Given the description of an element on the screen output the (x, y) to click on. 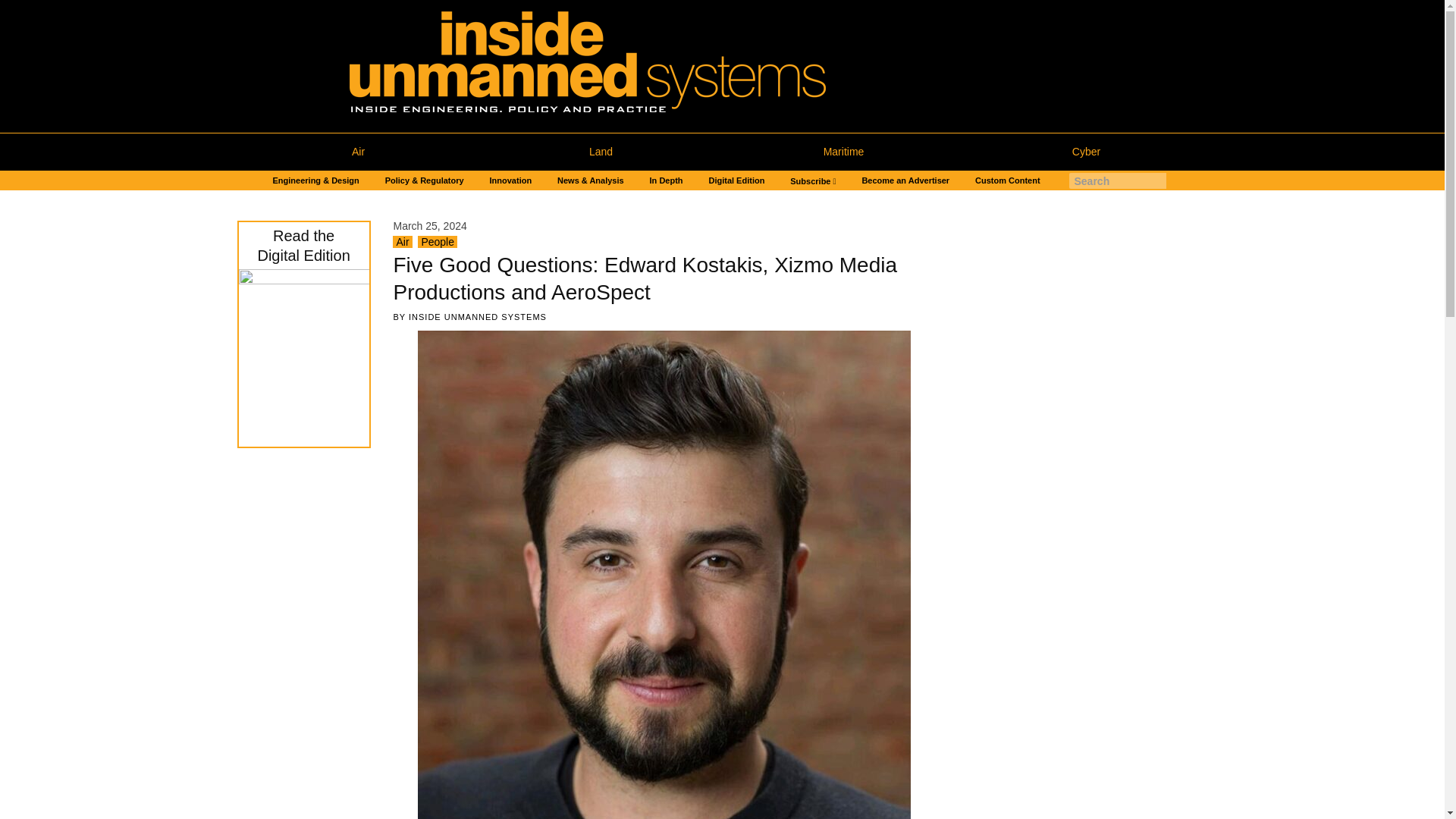
Land (600, 151)
Innovation (511, 180)
Digital Edition (736, 180)
Maritime (842, 151)
People (437, 241)
Search (17, 8)
Air (402, 241)
INSIDE UNMANNED SYSTEMS (478, 316)
Custom Content (1007, 180)
Air (357, 151)
Inside Unmanned Systems (614, 66)
In Depth (666, 180)
Become an Advertiser (905, 180)
Subscribe (812, 180)
Cyber (1085, 151)
